Given the description of an element on the screen output the (x, y) to click on. 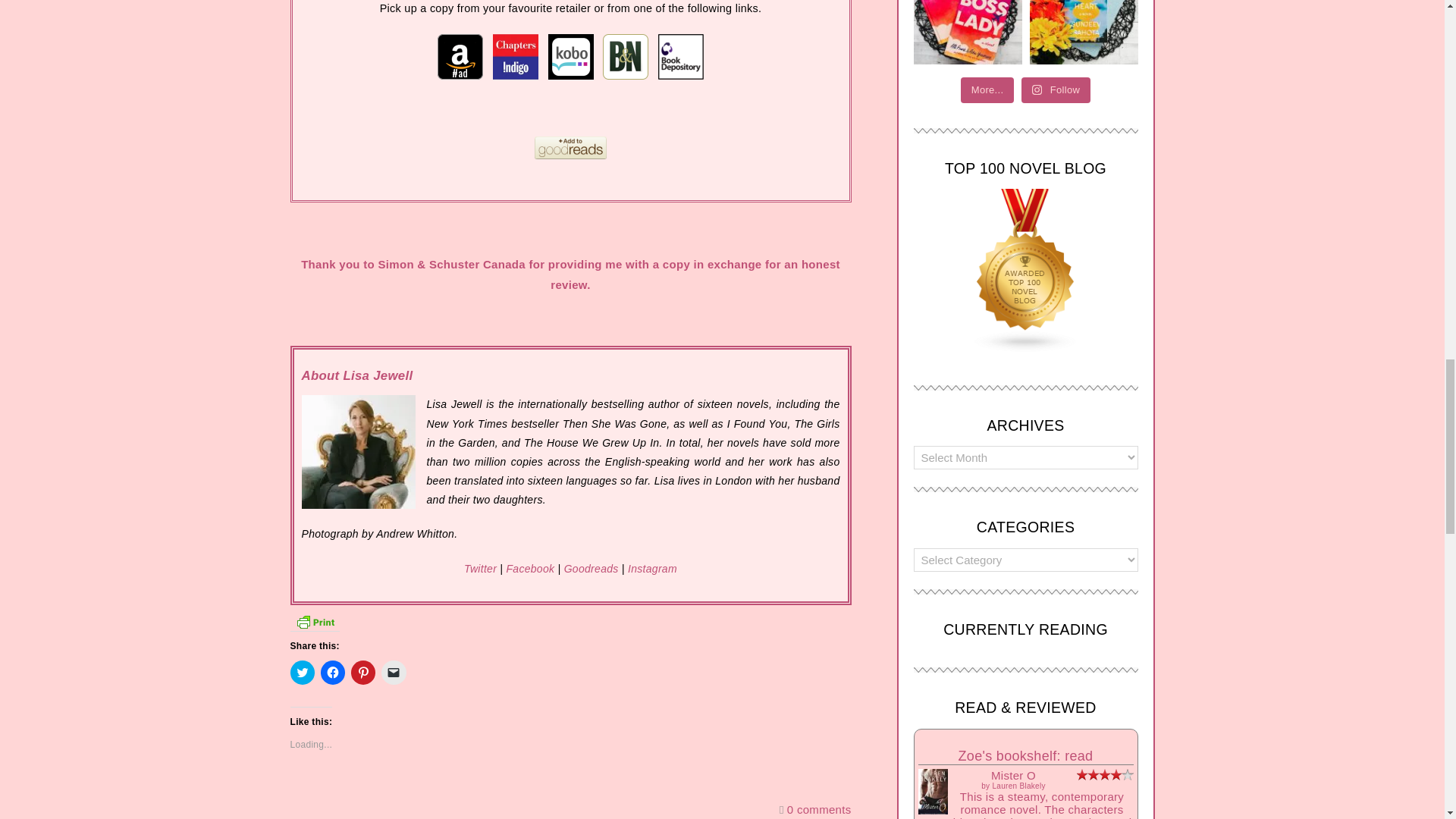
Click to share on Pinterest (362, 672)
Click to email a link to a friend (393, 672)
Click to share on Facebook (332, 672)
Click to share on Twitter (301, 672)
goodreads-badge-add-plus-71eae69ca0307d077df66a58ec068898 (570, 147)
Mister O (932, 811)
